Given the description of an element on the screen output the (x, y) to click on. 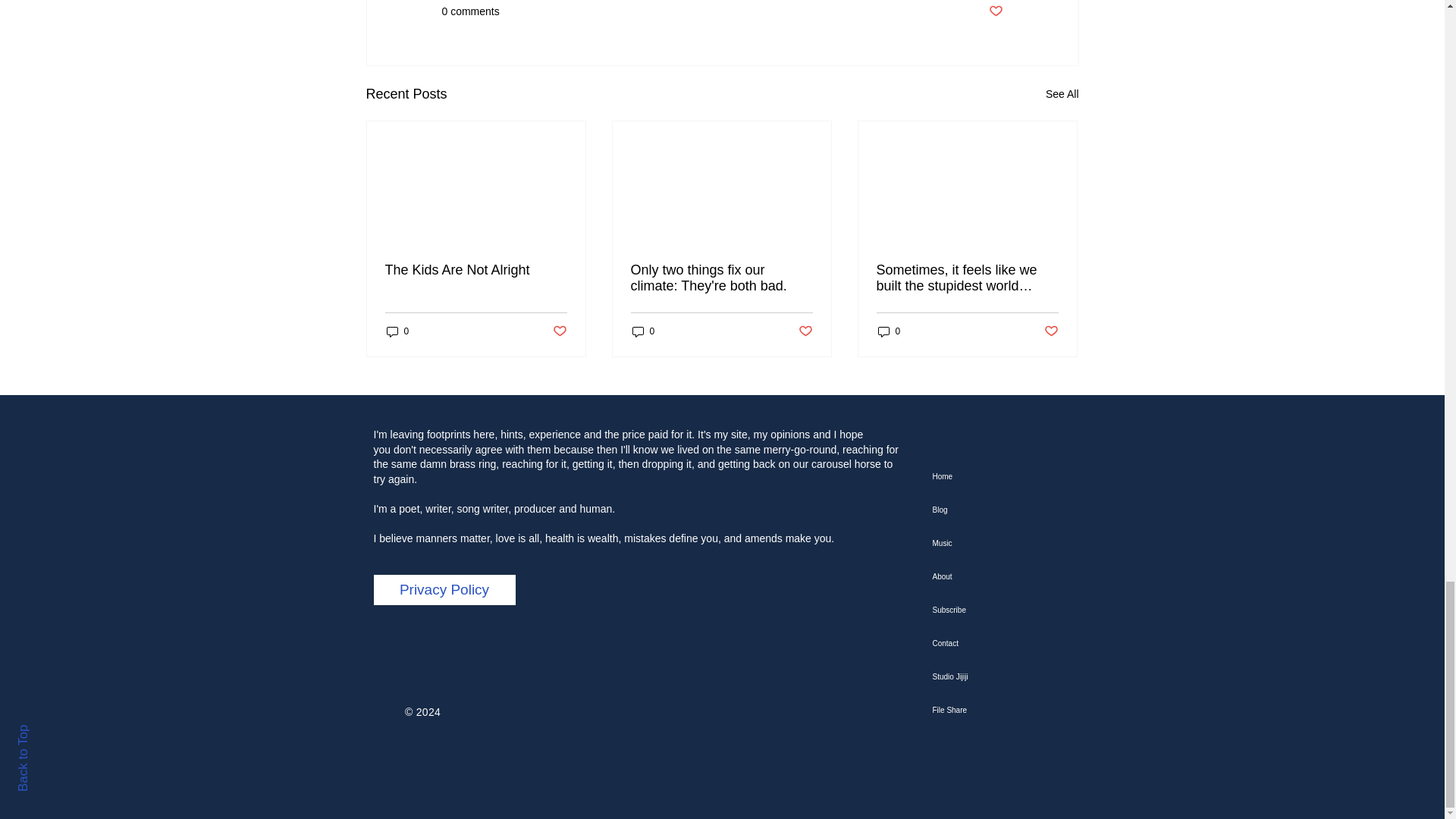
Post not marked as liked (558, 331)
Privacy Policy (443, 589)
Post not marked as liked (804, 331)
Home (1009, 476)
0 (643, 331)
Post not marked as liked (995, 11)
0 (397, 331)
See All (1061, 94)
Only two things fix our climate: They're both bad. (721, 278)
0 (889, 331)
The Kids Are Not Alright (476, 270)
Post not marked as liked (1050, 331)
